Given the description of an element on the screen output the (x, y) to click on. 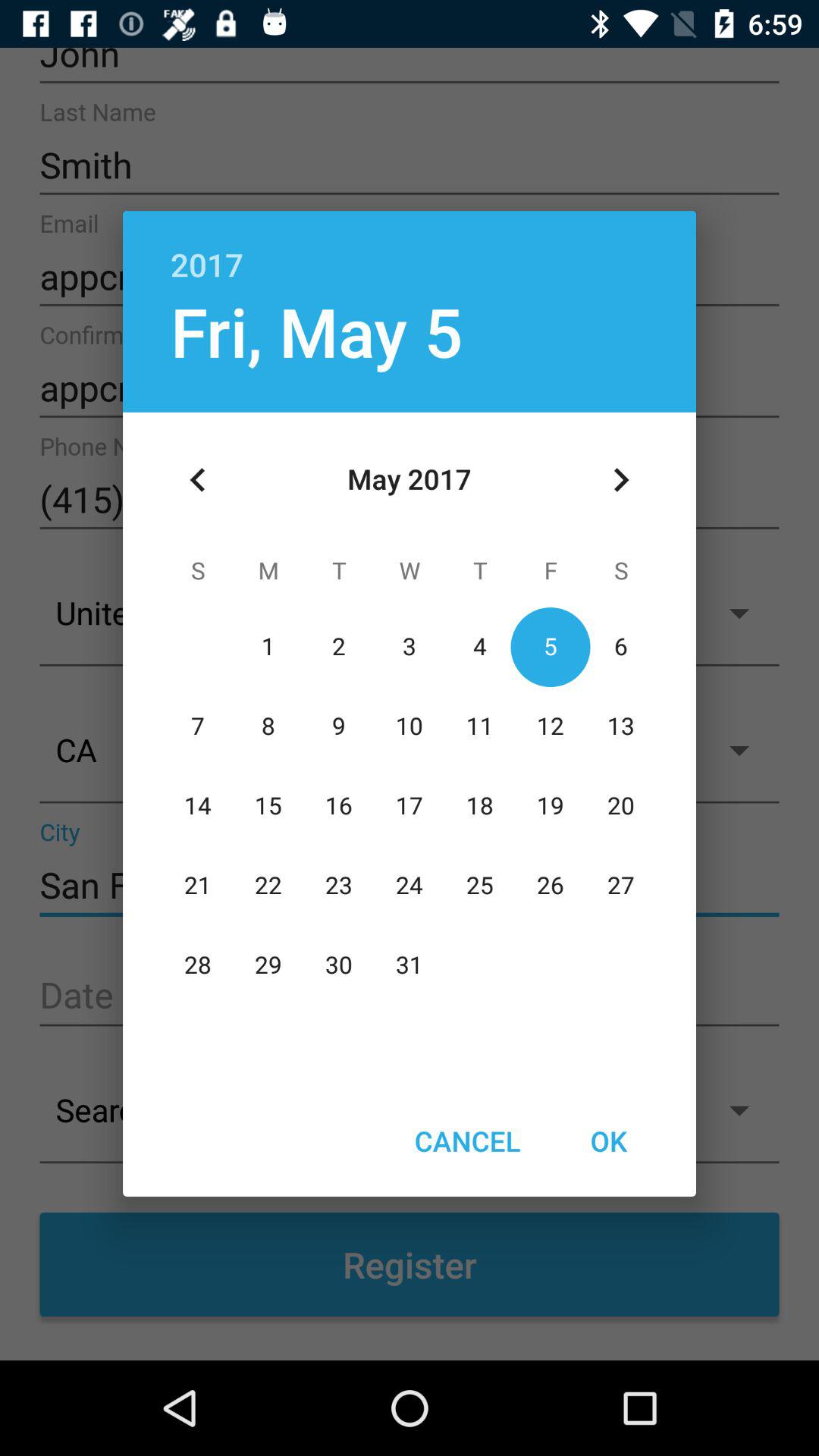
jump until the cancel icon (467, 1140)
